Given the description of an element on the screen output the (x, y) to click on. 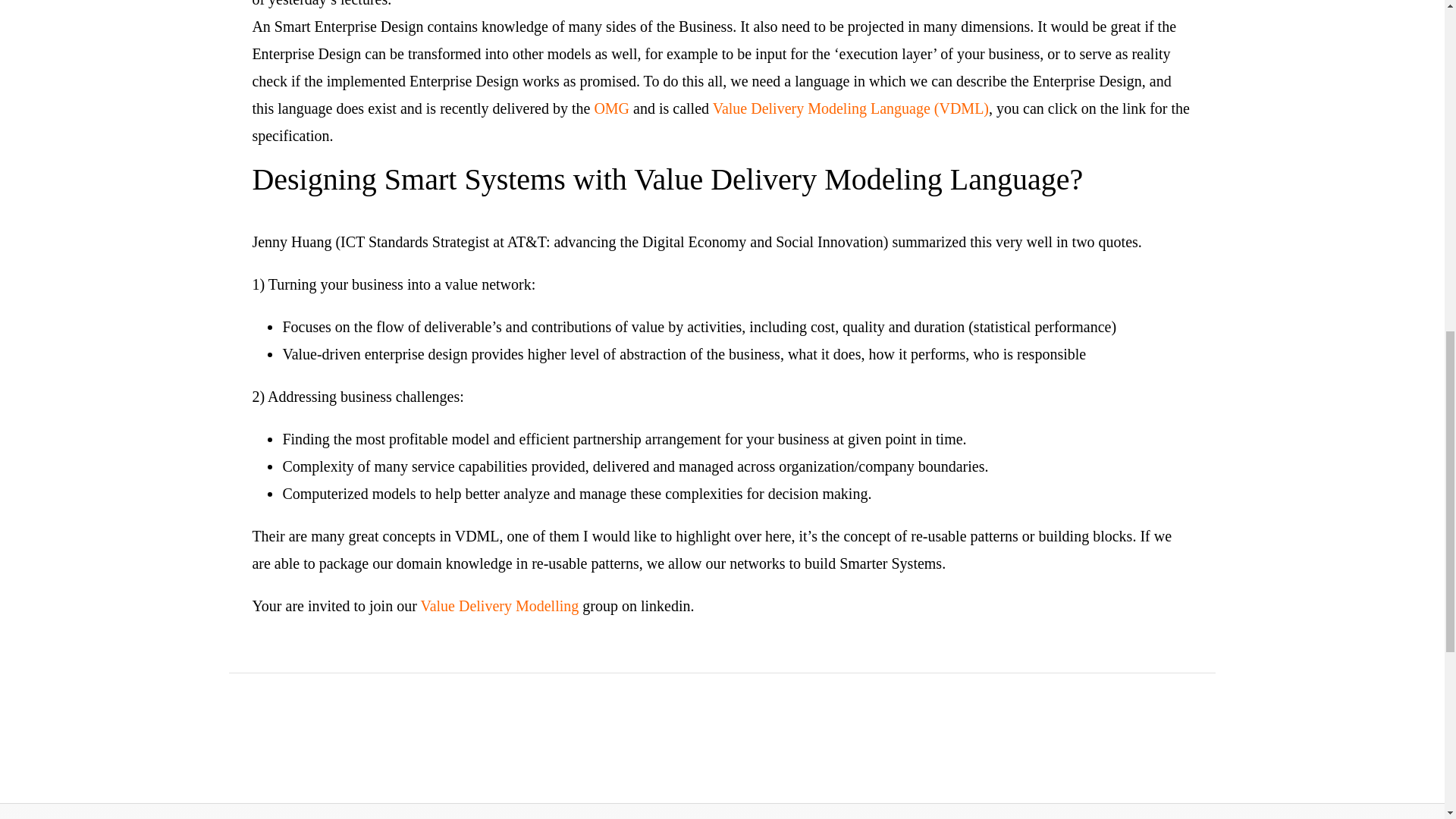
VDML specification on OMG website (850, 108)
OMG home page (611, 108)
Value Delivery Modelling linkedin group (499, 605)
